Given the description of an element on the screen output the (x, y) to click on. 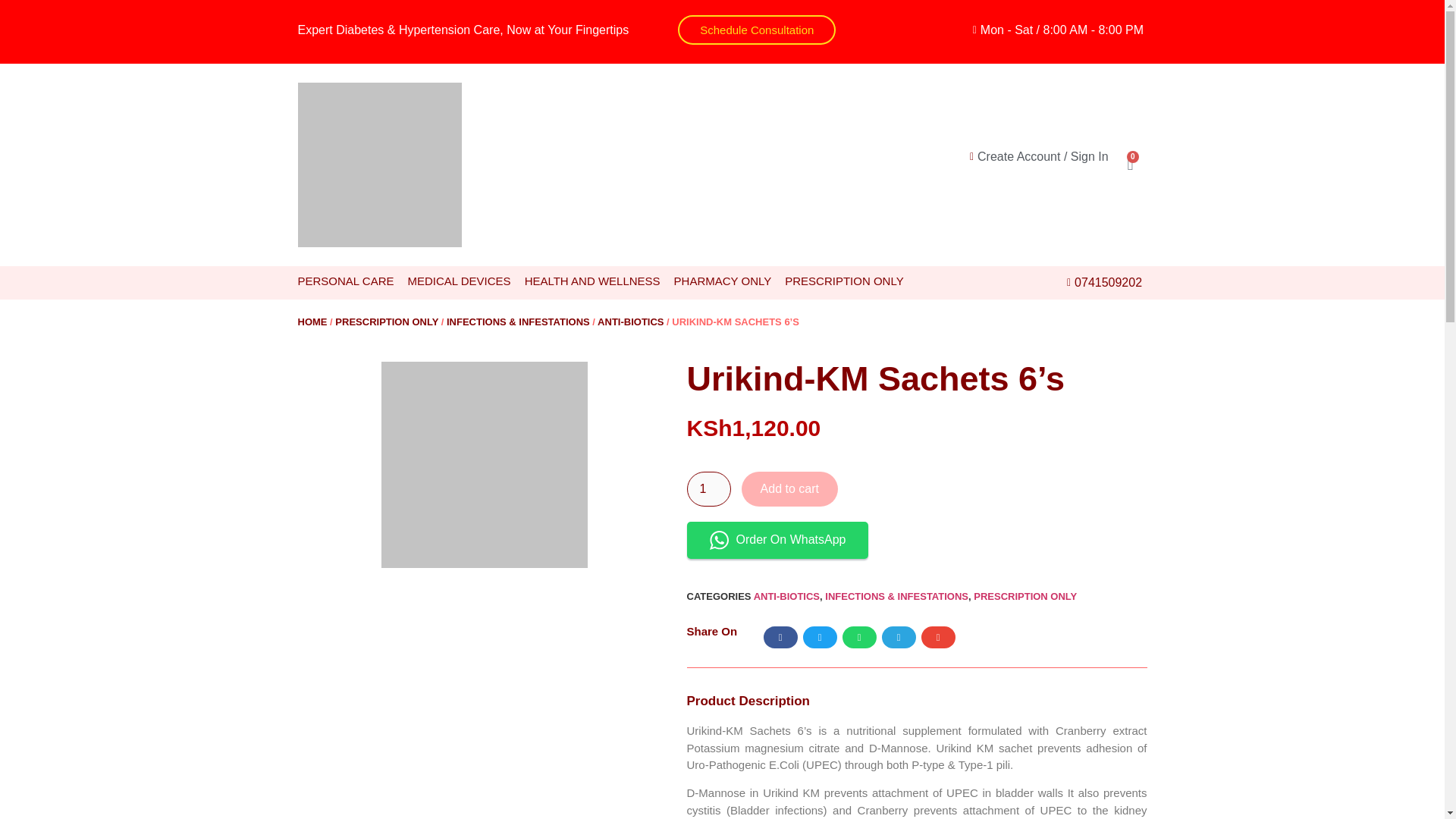
Schedule Consultation (756, 30)
PERSONAL CARE (345, 281)
0 (1130, 164)
1 (708, 488)
